Given the description of an element on the screen output the (x, y) to click on. 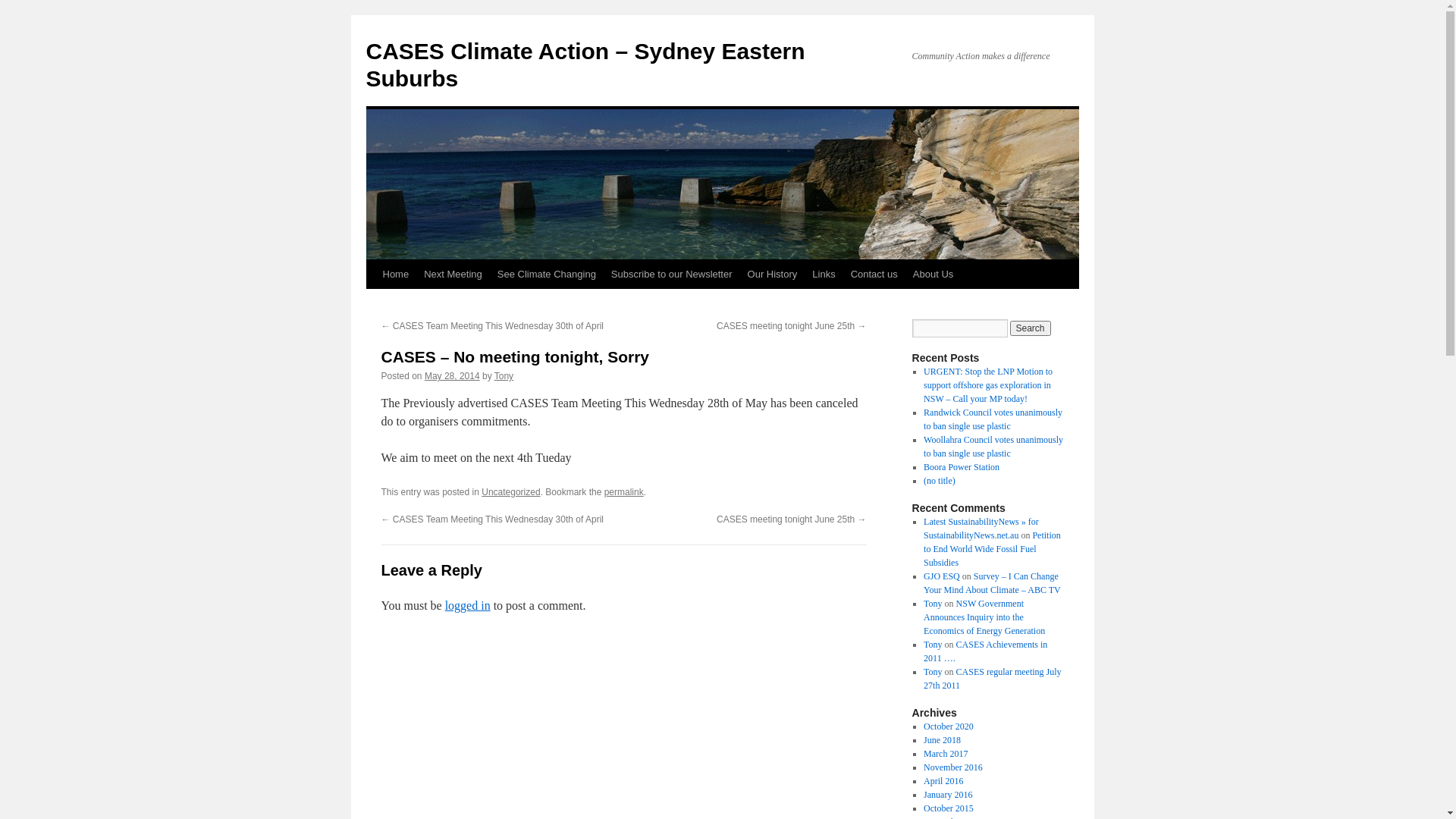
Contact us Element type: text (874, 274)
Search Element type: text (1030, 327)
Randwick Council votes unanimously to ban single use plastic Element type: text (992, 419)
CASES regular meeting July 27th 2011 Element type: text (991, 678)
June 2018 Element type: text (941, 739)
Next Meeting Element type: text (452, 274)
November 2016 Element type: text (952, 767)
January 2016 Element type: text (947, 794)
Links Element type: text (823, 274)
Subscribe to our Newsletter Element type: text (671, 274)
Uncategorized Element type: text (510, 491)
See Climate Changing Element type: text (546, 274)
Tony Element type: text (503, 375)
Petition to End World Wide Fossil Fuel Subsidies Element type: text (991, 548)
March 2017 Element type: text (945, 753)
May 28, 2014 Element type: text (452, 375)
Boora Power Station Element type: text (961, 466)
Tony Element type: text (932, 644)
Home Element type: text (395, 274)
Tony Element type: text (932, 603)
GJO ESQ Element type: text (941, 576)
permalink Element type: text (623, 491)
(no title) Element type: text (939, 480)
Tony Element type: text (932, 671)
October 2015 Element type: text (948, 808)
logged in Element type: text (467, 605)
Skip to content Element type: text (372, 302)
October 2020 Element type: text (948, 726)
Our History Element type: text (772, 274)
About Us Element type: text (932, 274)
April 2016 Element type: text (943, 780)
